Given the description of an element on the screen output the (x, y) to click on. 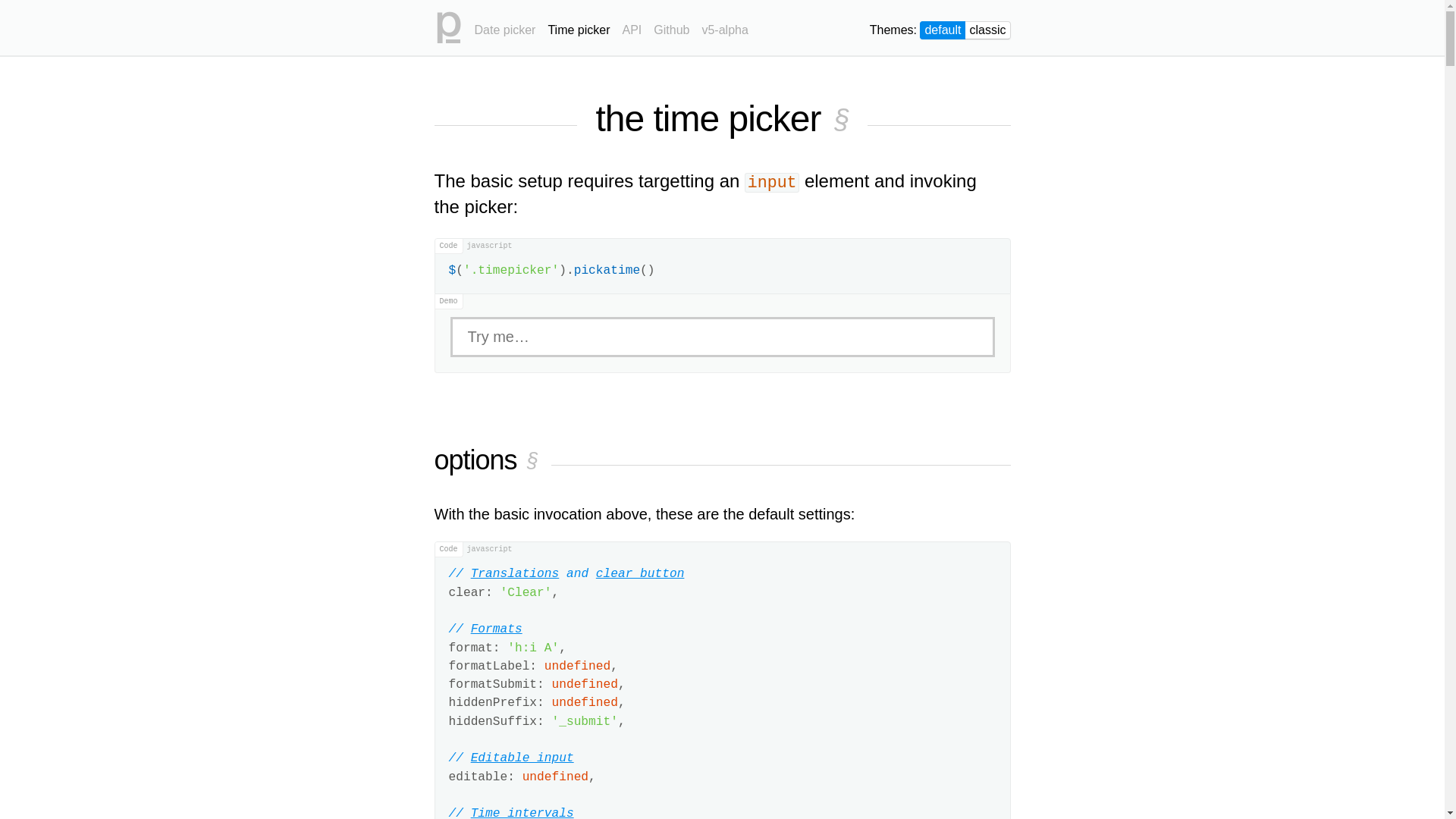
Formats Element type: text (496, 629)
Translations Element type: text (514, 573)
Time picker Element type: text (578, 26)
API Element type: text (632, 26)
Editable input Element type: text (522, 757)
p Element type: text (447, 27)
clear button Element type: text (640, 573)
v5-alpha Element type: text (724, 26)
Date picker Element type: text (505, 26)
Github Element type: text (671, 26)
